Given the description of an element on the screen output the (x, y) to click on. 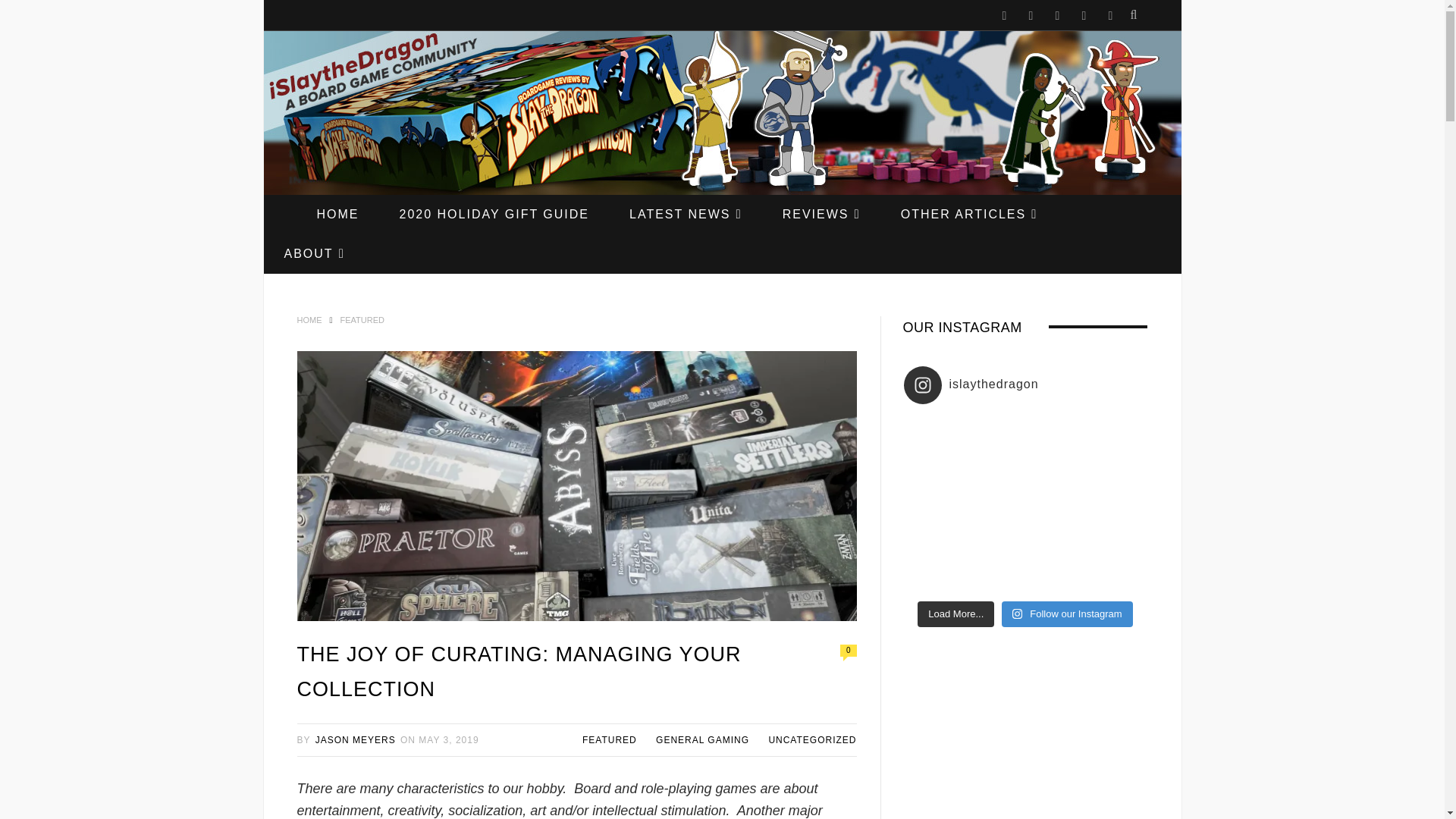
REVIEWS (821, 214)
2020 HOLIDAY GIFT GUIDE (493, 214)
LATEST NEWS (685, 214)
HOME (337, 214)
Posts by Jason Meyers (355, 739)
